Given the description of an element on the screen output the (x, y) to click on. 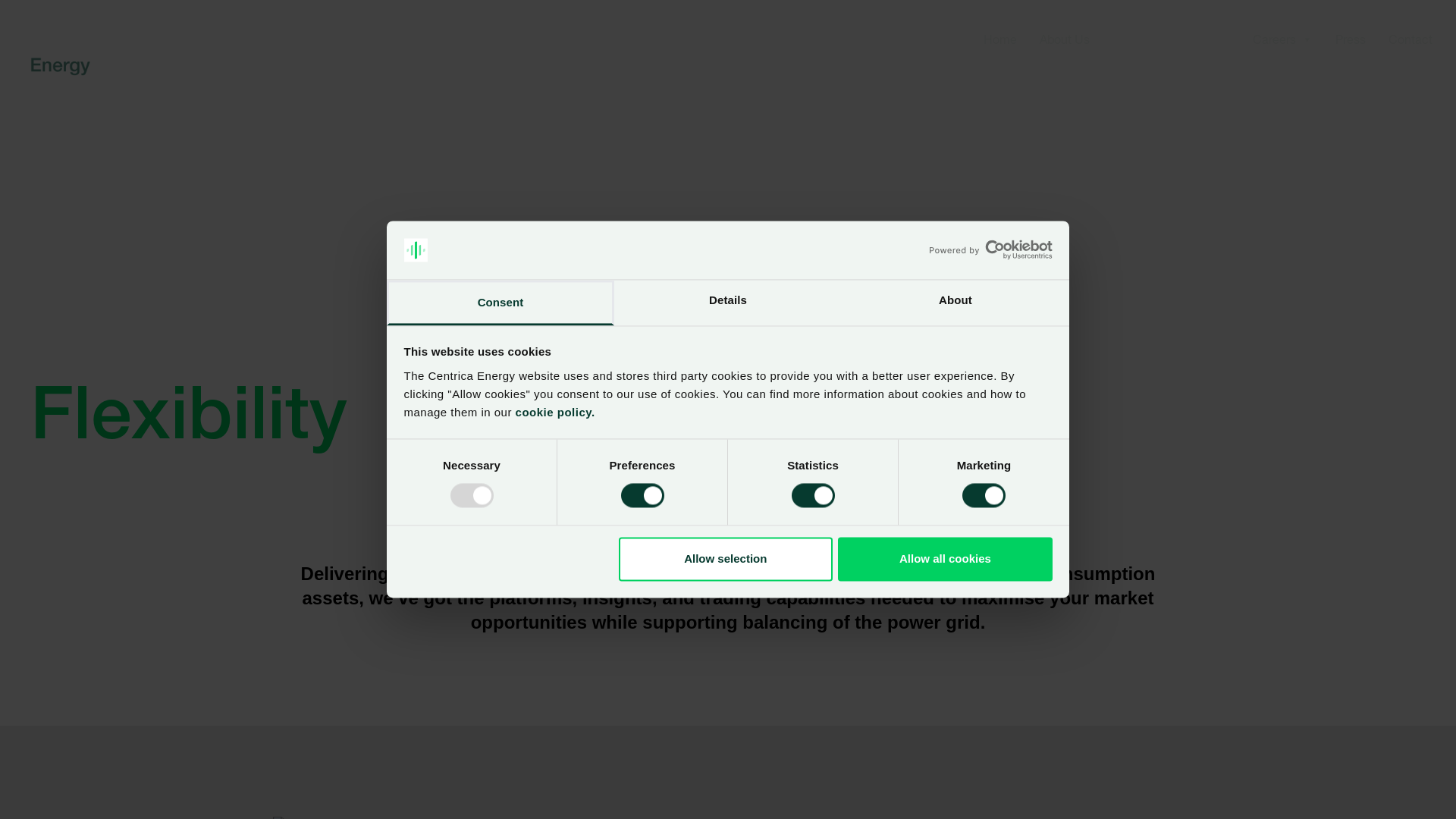
Allow selection Element type: text (725, 558)
About Element type: text (955, 302)
Allow all cookies Element type: text (944, 558)
Press Element type: text (1350, 39)
Consent Element type: text (500, 302)
Details Element type: text (727, 302)
cookie policy. Element type: text (553, 411)
Careers Element type: text (1282, 39)
Trading & Services Element type: text (1170, 39)
About Us Element type: text (1064, 39)
Contact Element type: text (1410, 39)
Home Element type: text (999, 39)
